Given the description of an element on the screen output the (x, y) to click on. 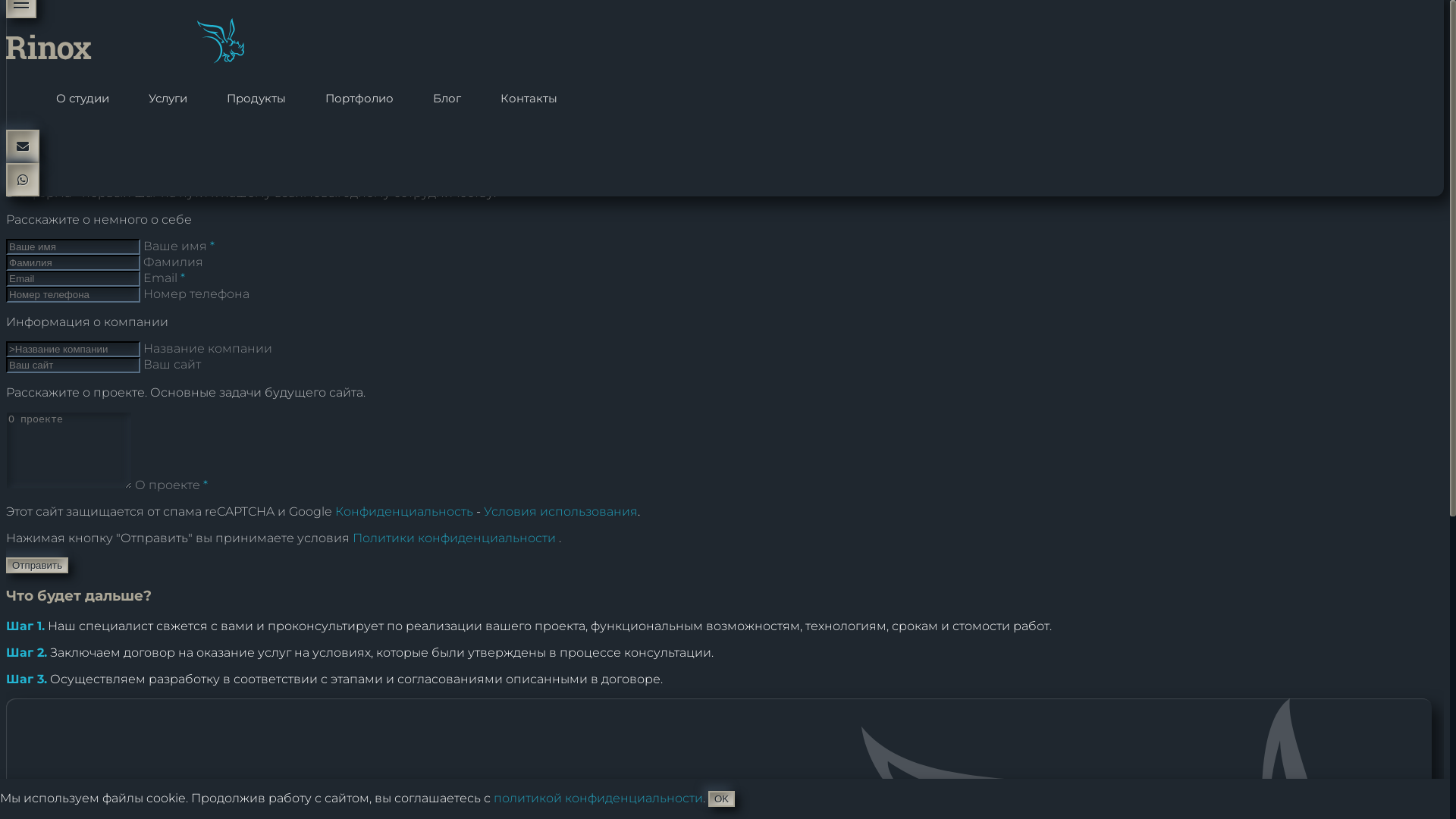
OK Element type: text (721, 798)
